Given the description of an element on the screen output the (x, y) to click on. 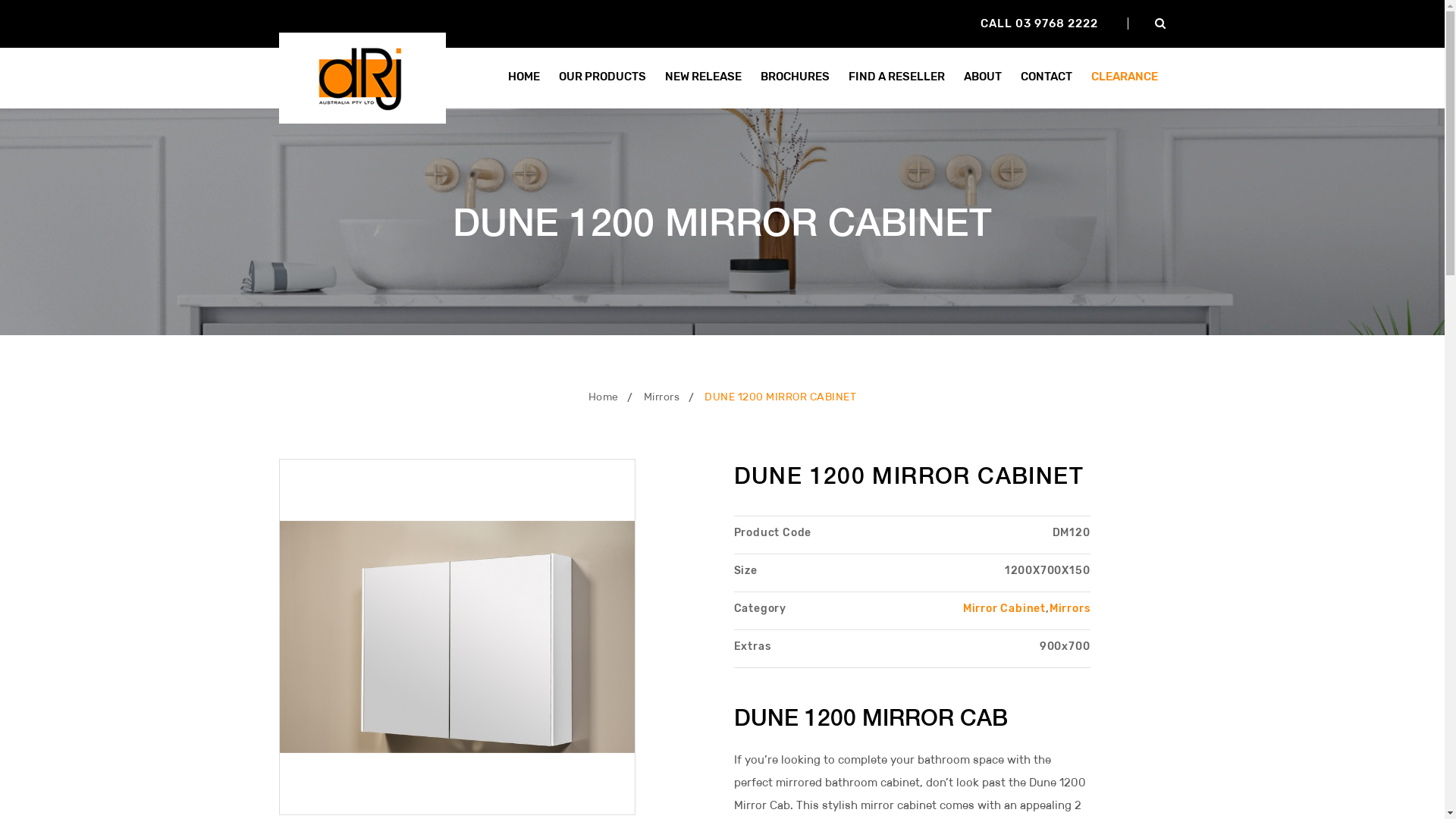
CLEARANCE Element type: text (1124, 76)
DRJ Australia Pty Ltd Element type: hover (362, 76)
Mirrors Element type: text (1069, 608)
CALL 03 9768 2222 Element type: text (1038, 23)
Mirror Cabinet Element type: text (1004, 608)
Mirrors Element type: text (661, 396)
OUR PRODUCTS Element type: text (602, 76)
NEW RELEASE Element type: text (702, 76)
FIND A RESELLER Element type: text (896, 76)
Home Element type: text (603, 396)
HOME Element type: text (522, 76)
BROCHURES Element type: text (794, 76)
ABOUT Element type: text (982, 76)
CONTACT Element type: text (1045, 76)
